Given the description of an element on the screen output the (x, y) to click on. 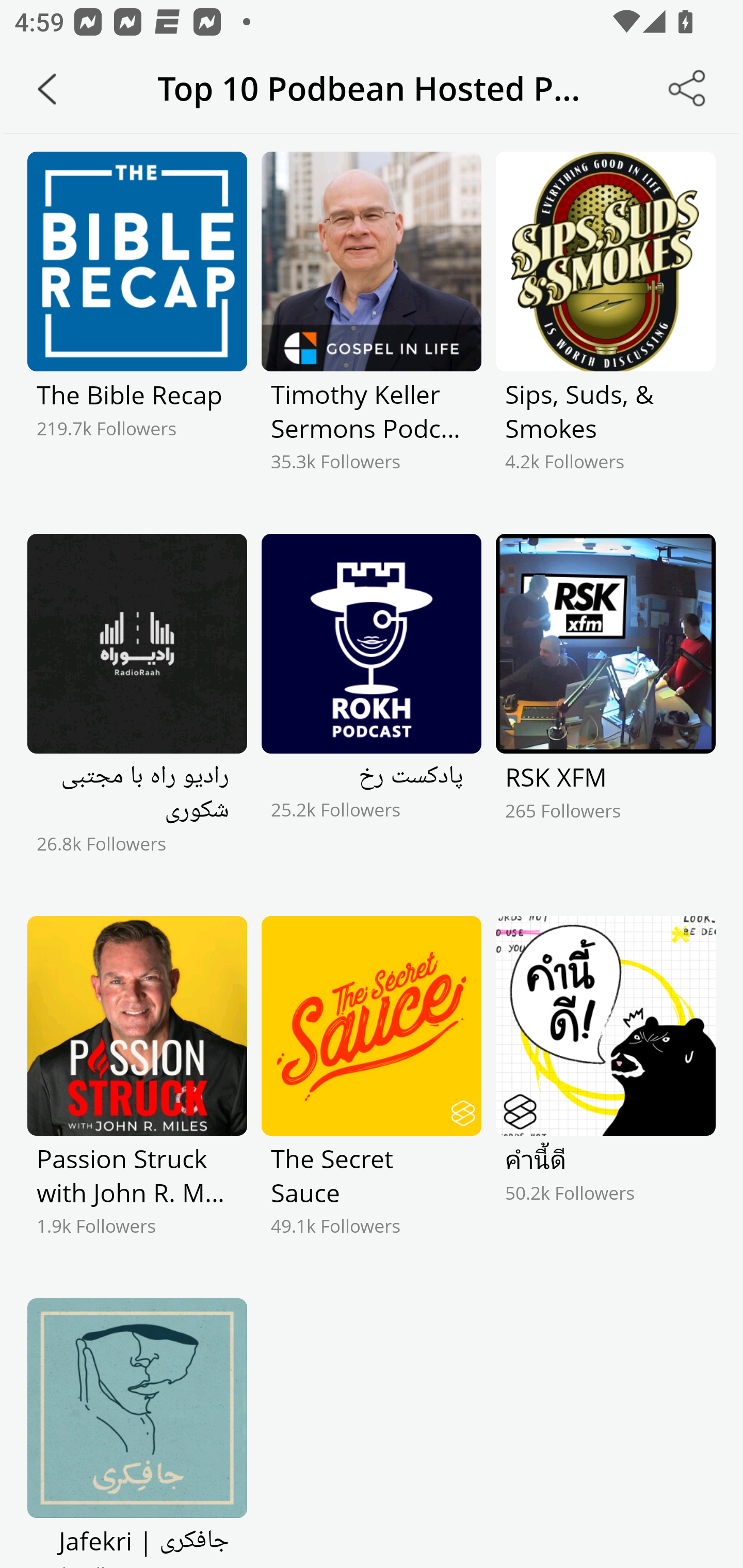
Back (46, 88)
The Bible Recap 219.7k Followers (137, 329)
Sips, Suds, & Smokes 4.2k Followers (605, 329)
رادیو راه با مجتبی شکوری 26.8k Followers (137, 711)
پادکست رخ 25.2k Followers (371, 711)
RSK XFM 265 Followers (605, 711)
Passion Struck with John R. Miles 1.9k Followers (137, 1093)
The Secret Sauce 49.1k Followers (371, 1093)
คำนี้ดี 50.2k Followers (605, 1093)
جافکری | Jafekri 7.1k Followers (137, 1433)
